Given the description of an element on the screen output the (x, y) to click on. 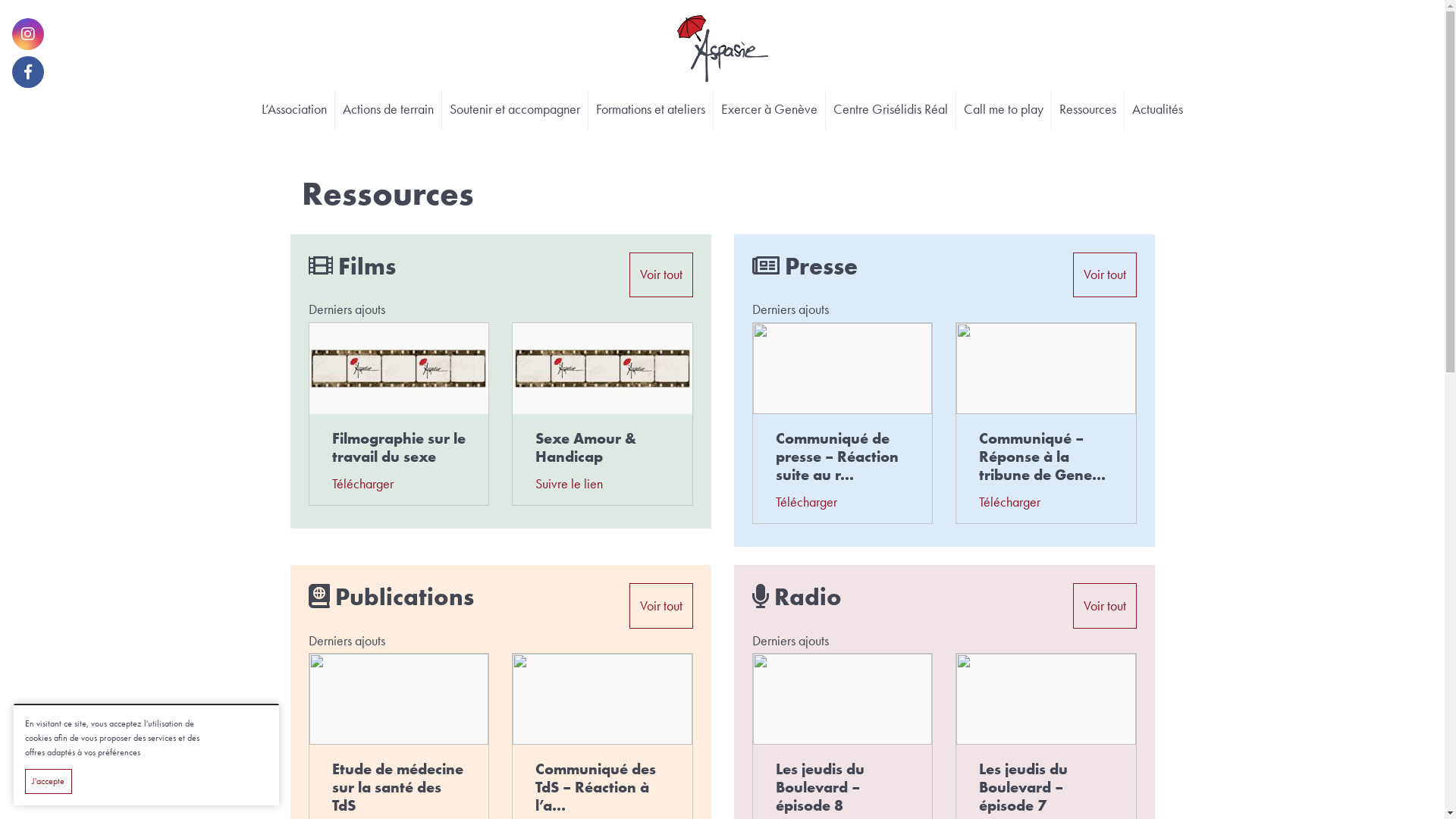
Voir tout Element type: text (1104, 605)
Sexe Amour & Handicap
Suivre le lien Element type: text (602, 414)
Formations et ateliers Element type: text (650, 108)
Actions de terrain Element type: text (388, 108)
Soutenir et accompagner Element type: text (514, 108)
Voir tout Element type: text (660, 275)
Voir tout Element type: text (1104, 275)
J'accepte Element type: text (48, 780)
Call me to play Element type: text (1003, 108)
Aspasie Element type: text (721, 52)
Ressources Element type: text (1087, 108)
Voir tout Element type: text (660, 605)
